Given the description of an element on the screen output the (x, y) to click on. 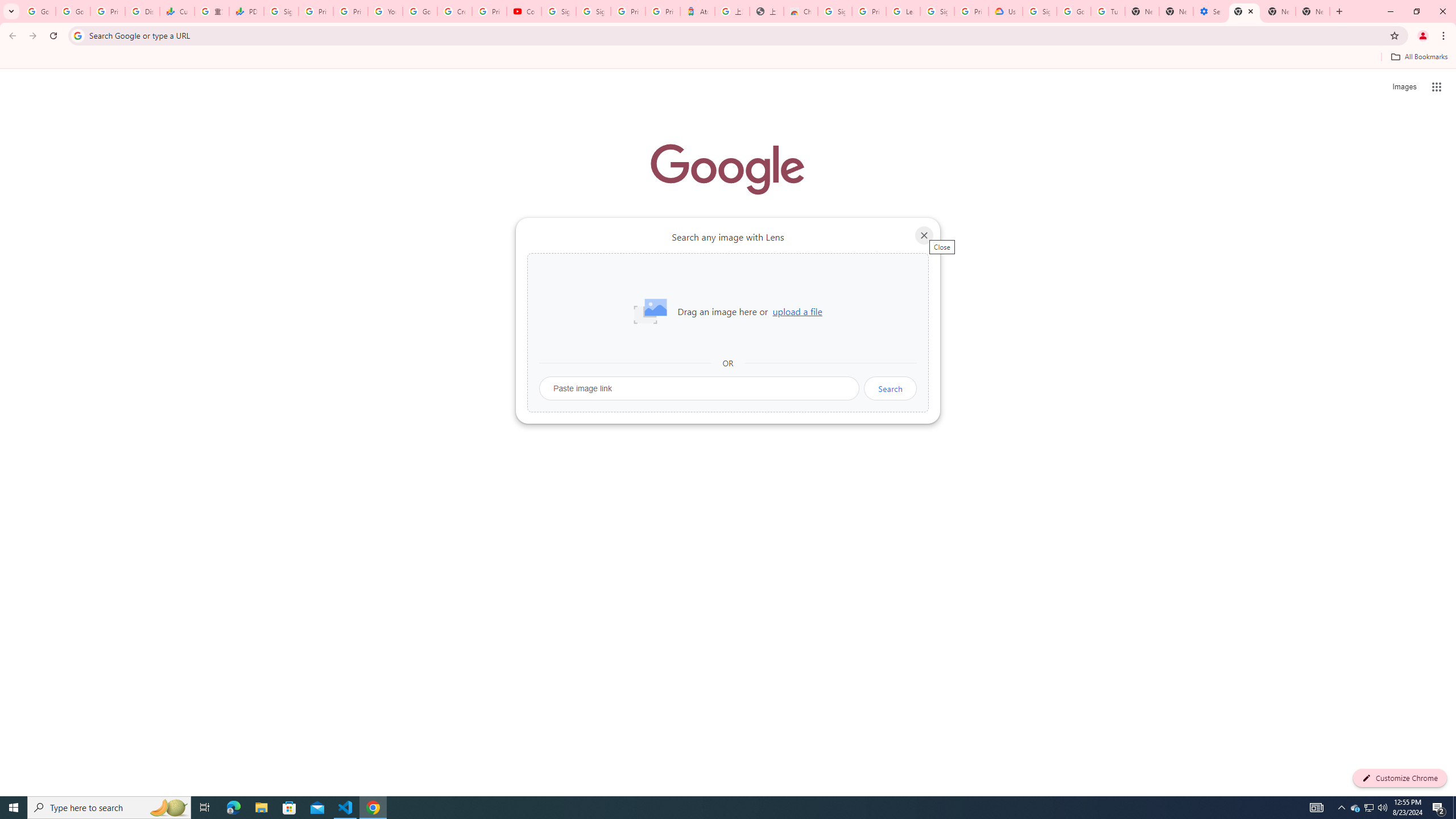
Sign in - Google Accounts (937, 11)
Content Creator Programs & Opportunities - YouTube Creators (524, 11)
Currencies - Google Finance (176, 11)
New Tab (1141, 11)
